Given the description of an element on the screen output the (x, y) to click on. 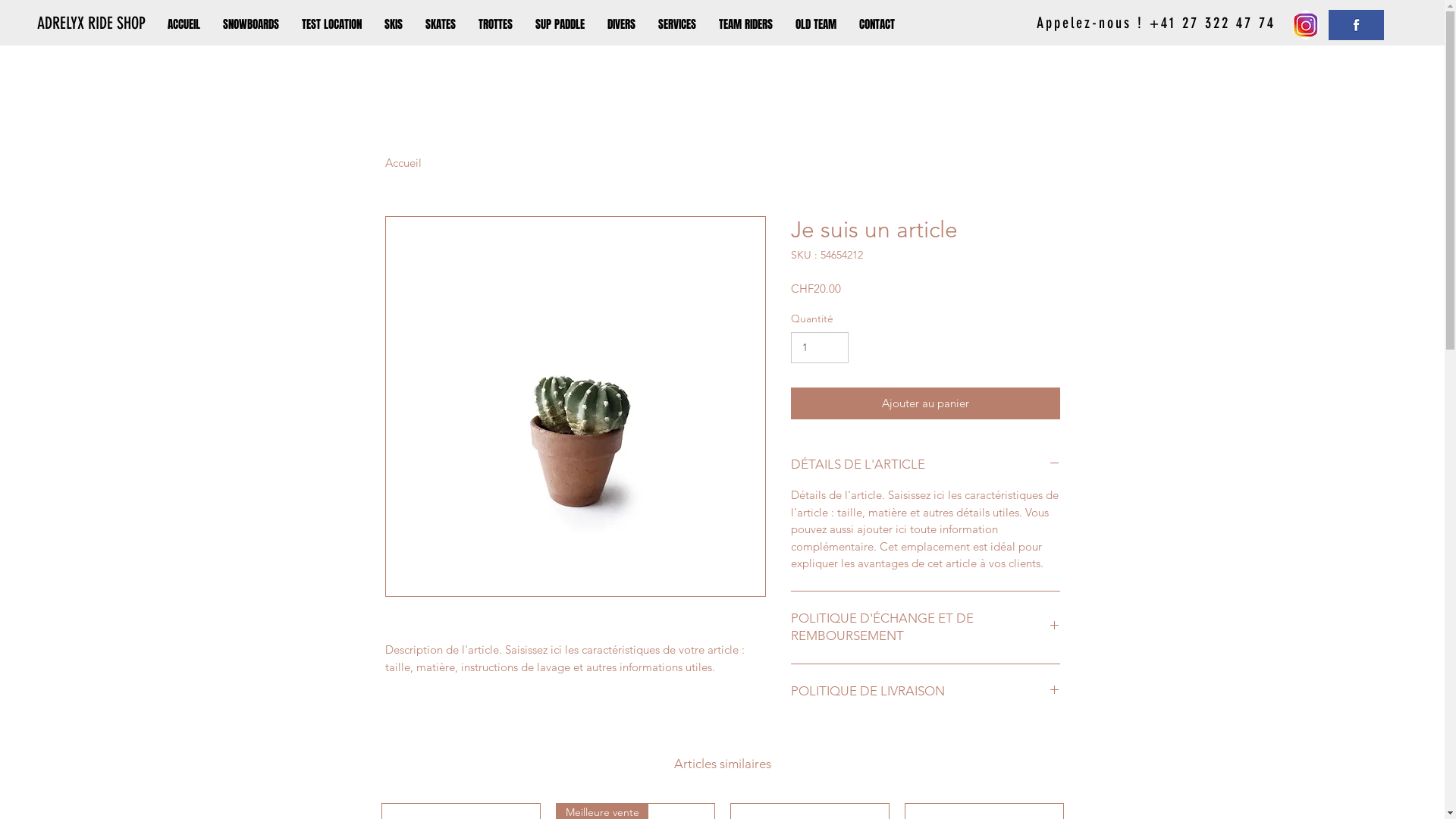
TEAM RIDERS Element type: text (745, 24)
SERVICES Element type: text (676, 24)
POLITIQUE DE LIVRAISON Element type: text (924, 691)
Ajouter au panier Element type: text (924, 403)
ADRELYX RIDE SHOP Element type: text (91, 23)
Accueil Element type: text (403, 162)
ACCUEIL Element type: text (183, 24)
SNOWBOARDS Element type: text (250, 24)
SKATES Element type: text (440, 24)
SKIS Element type: text (393, 24)
TROTTES Element type: text (495, 24)
TEST LOCATION Element type: text (331, 24)
OLD TEAM Element type: text (815, 24)
SUP PADDLE Element type: text (560, 24)
CONTACT Element type: text (876, 24)
DIVERS Element type: text (621, 24)
